Given the description of an element on the screen output the (x, y) to click on. 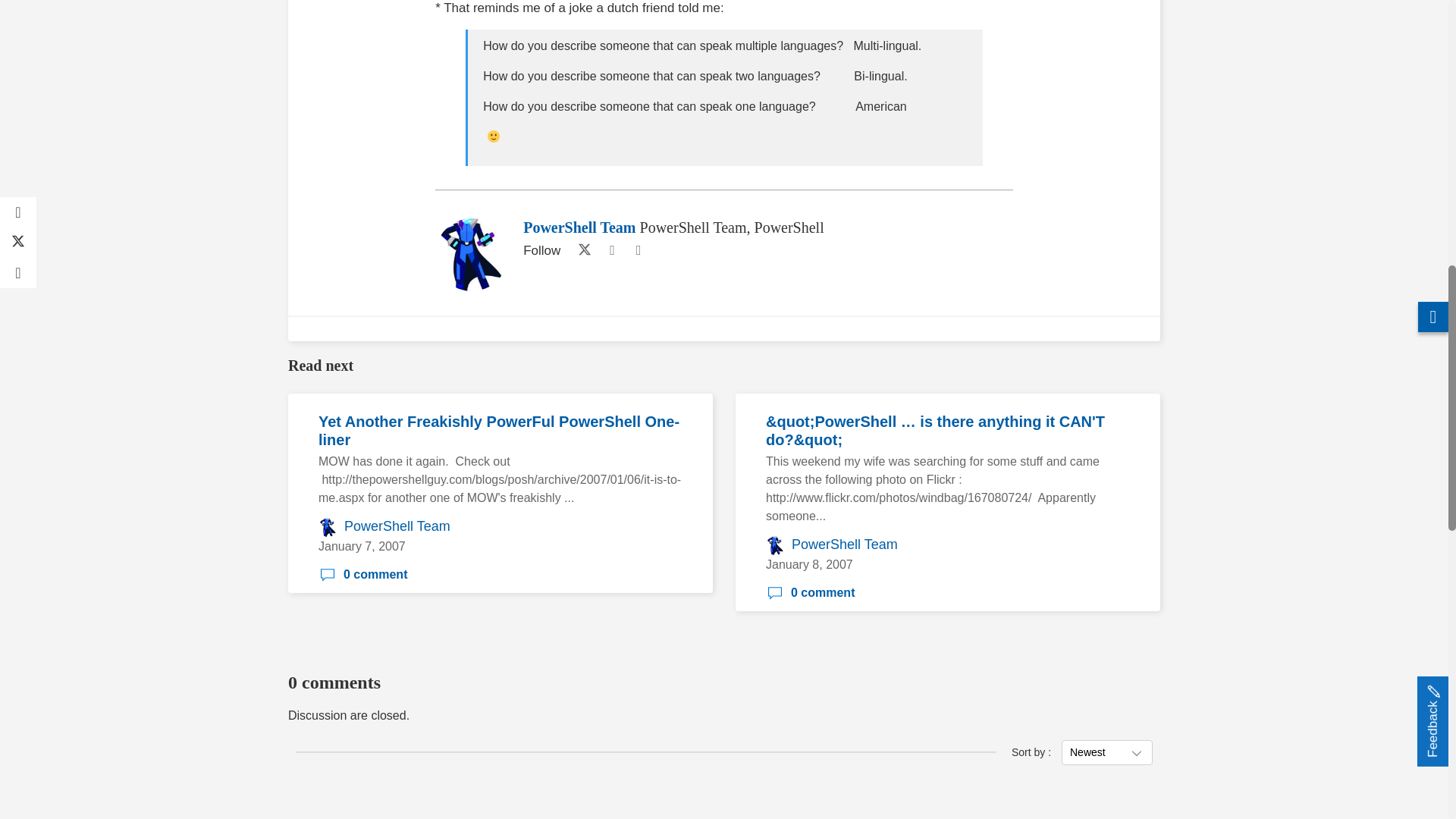
RSS Feed (637, 250)
Twitter (581, 250)
Github (611, 250)
